Given the description of an element on the screen output the (x, y) to click on. 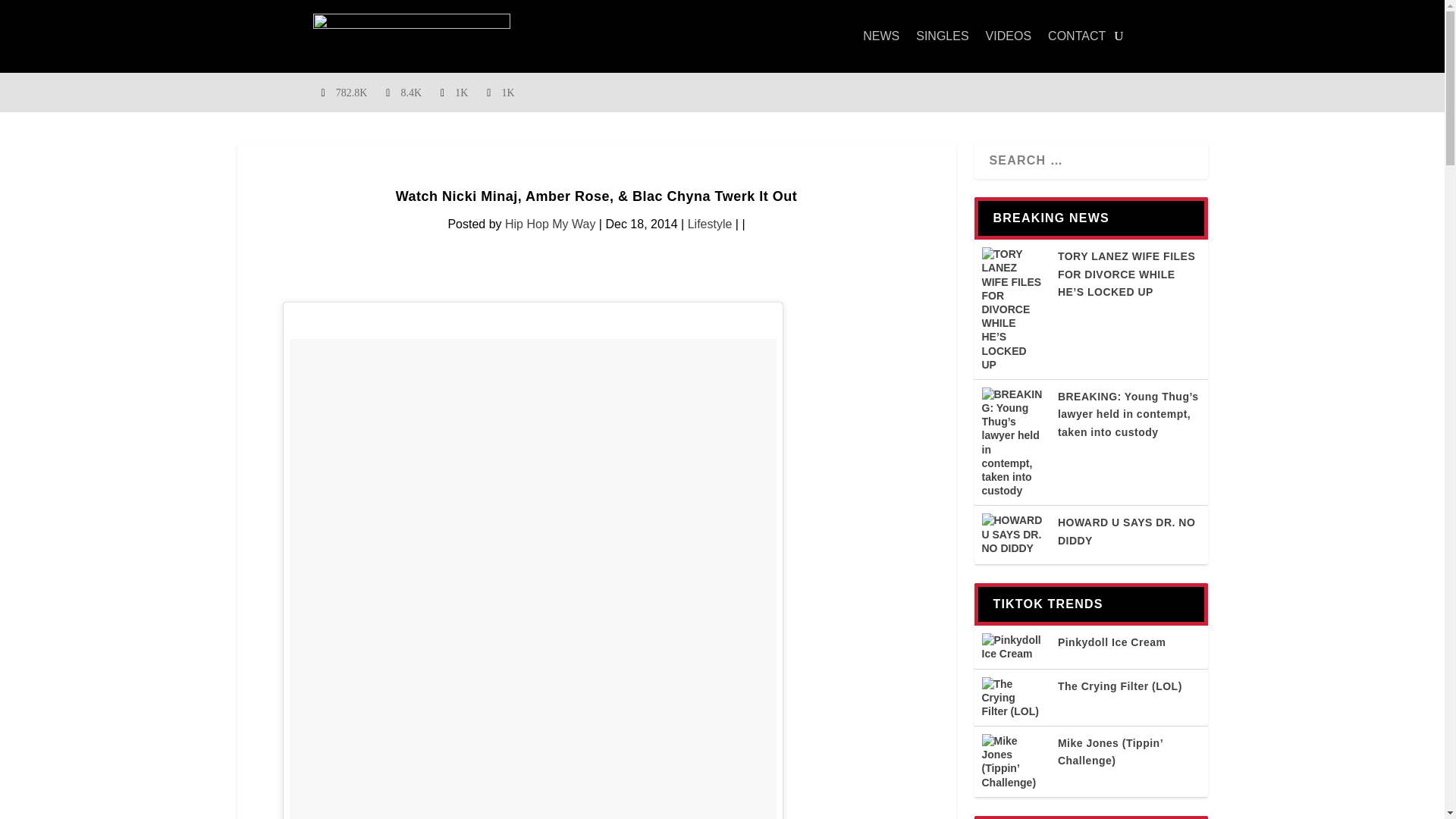
Posts by Hip Hop My Way (550, 223)
SINGLES (941, 36)
Lifestyle (709, 223)
1K (454, 92)
CONTACT (1076, 36)
8.4K (404, 92)
782.8K (345, 92)
Hip Hop My Way (550, 223)
1K (501, 92)
